Given the description of an element on the screen output the (x, y) to click on. 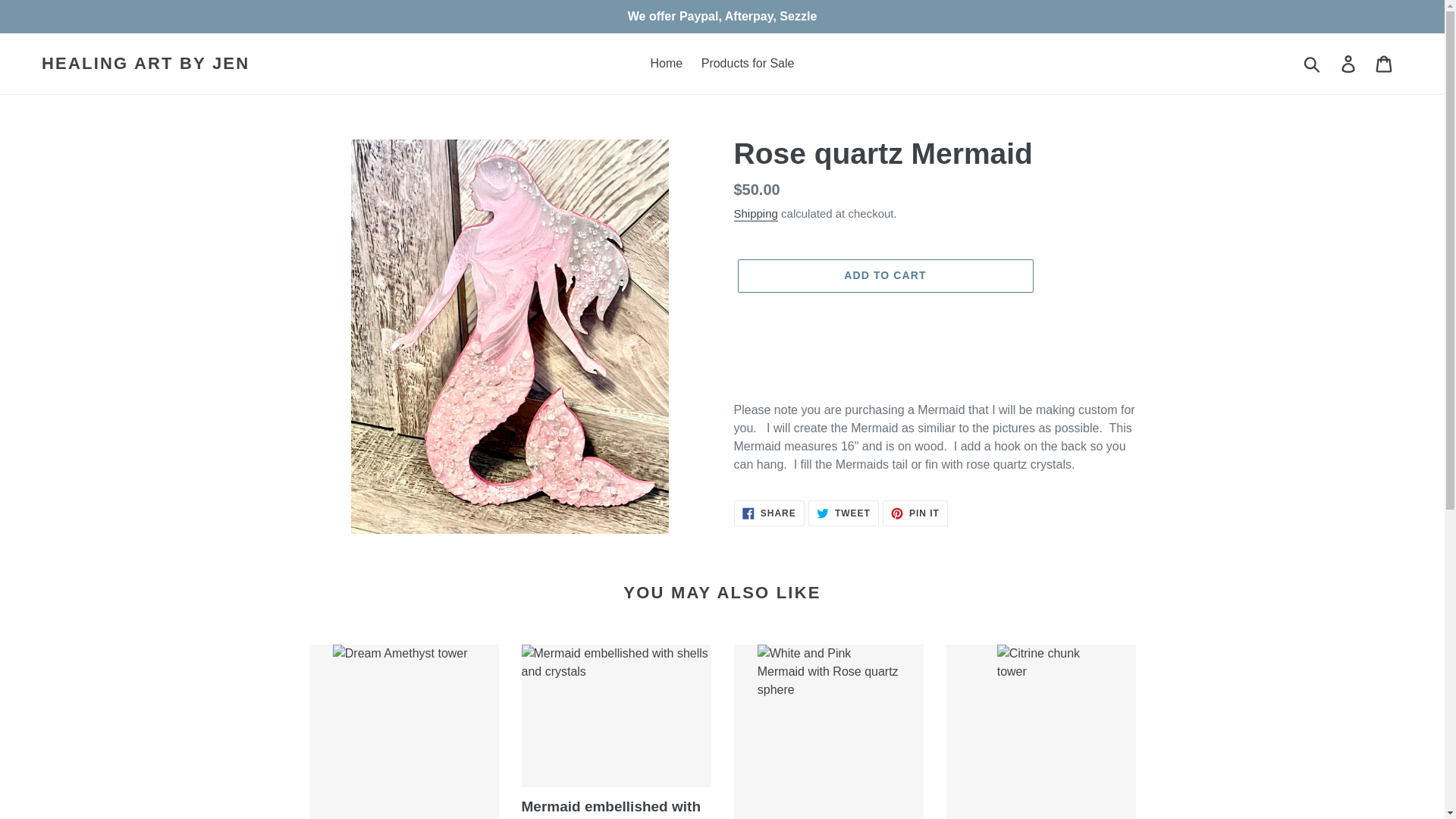
Home (666, 63)
Cart (769, 513)
Mermaid embellished with shells and crystals (1385, 63)
Log in (616, 731)
HEALING ART BY JEN (1349, 63)
Citrine chunk tower (145, 63)
Submit (843, 513)
ADD TO CART (1040, 731)
